Given the description of an element on the screen output the (x, y) to click on. 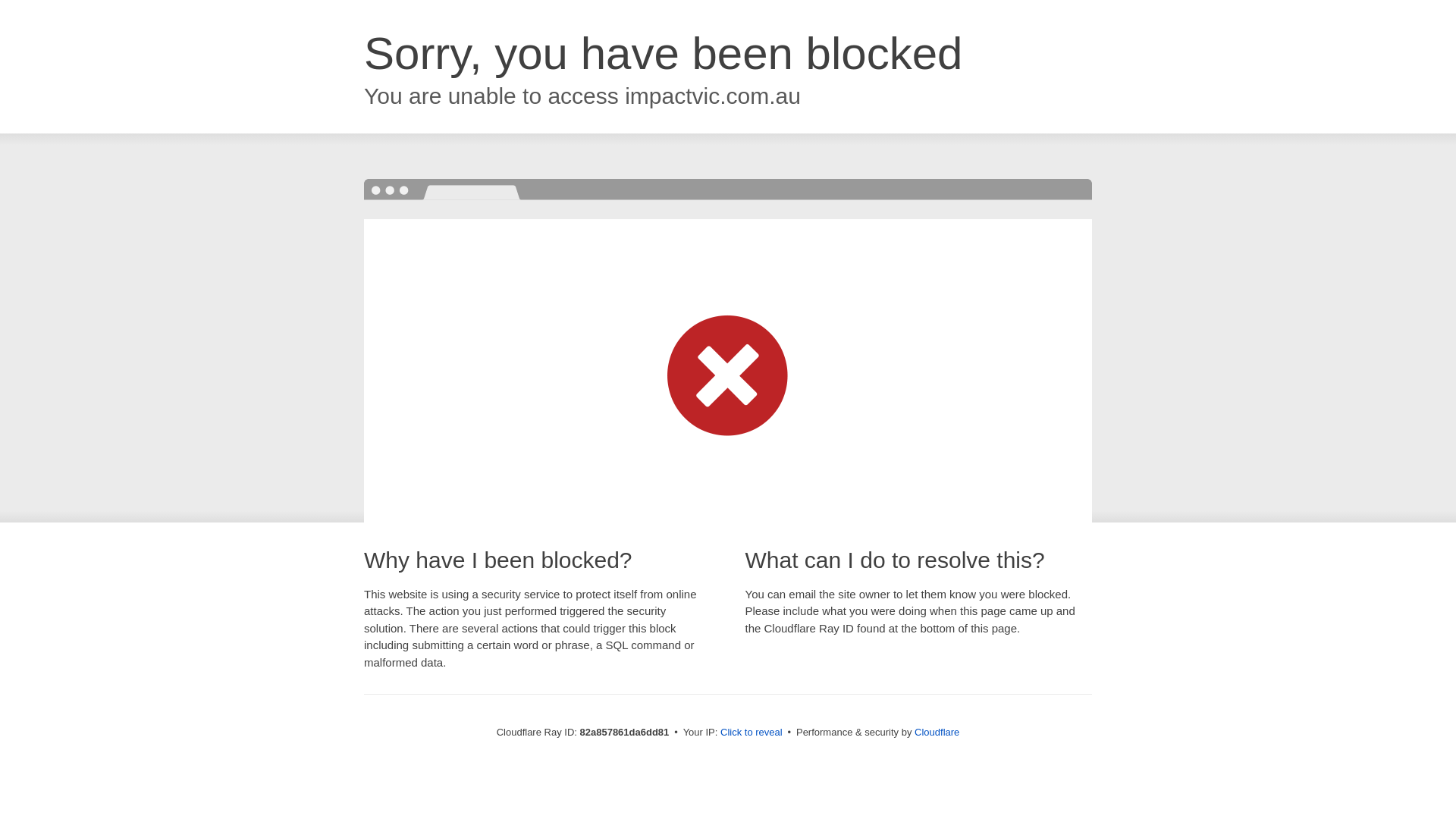
Click to reveal Element type: text (751, 732)
Cloudflare Element type: text (936, 731)
